Given the description of an element on the screen output the (x, y) to click on. 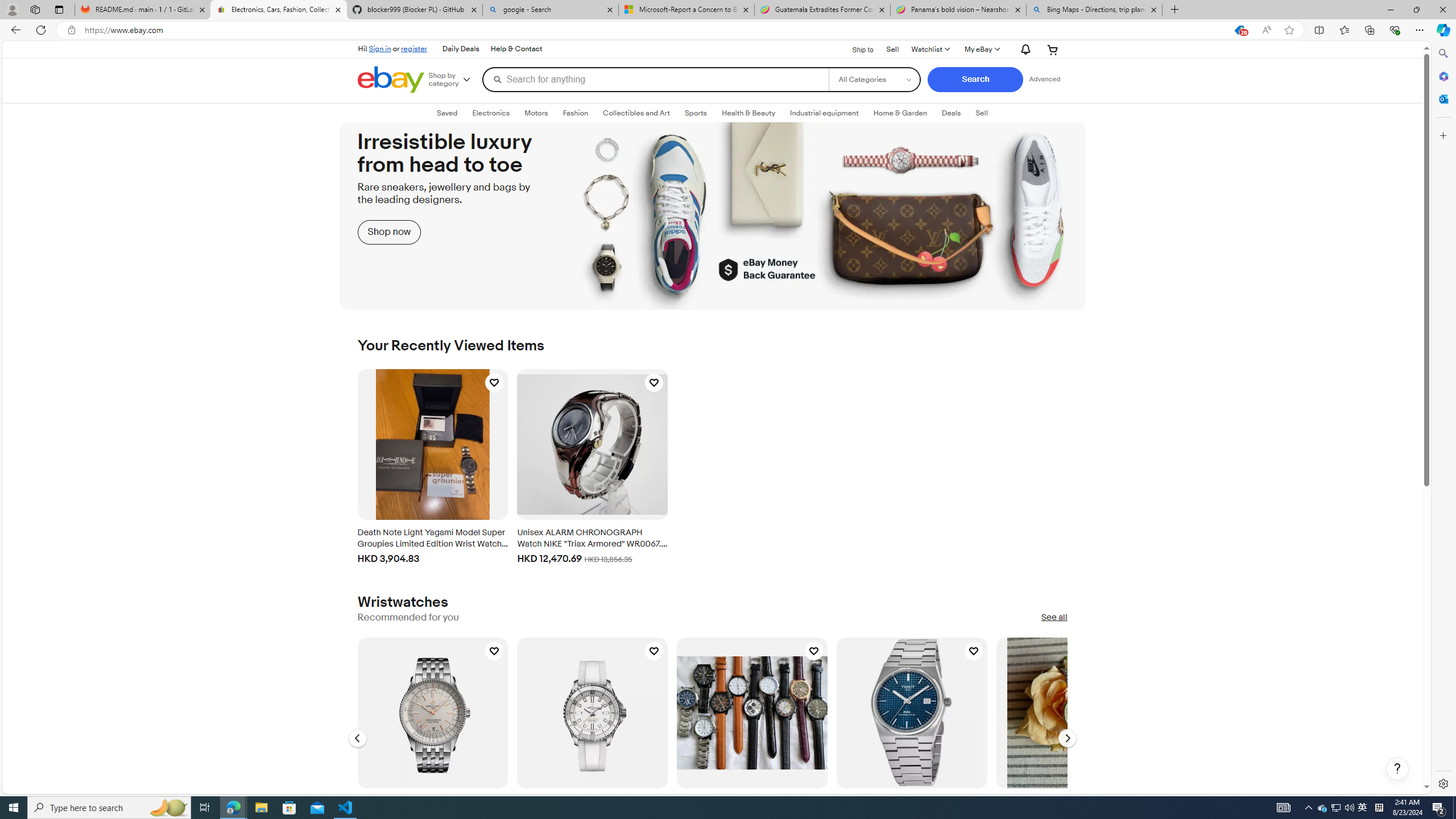
Health & Beauty (749, 112)
eBay Home (389, 79)
Ship to (855, 49)
Select a category for search (874, 78)
Daily Deals (460, 49)
Electronics (490, 112)
